Given the description of an element on the screen output the (x, y) to click on. 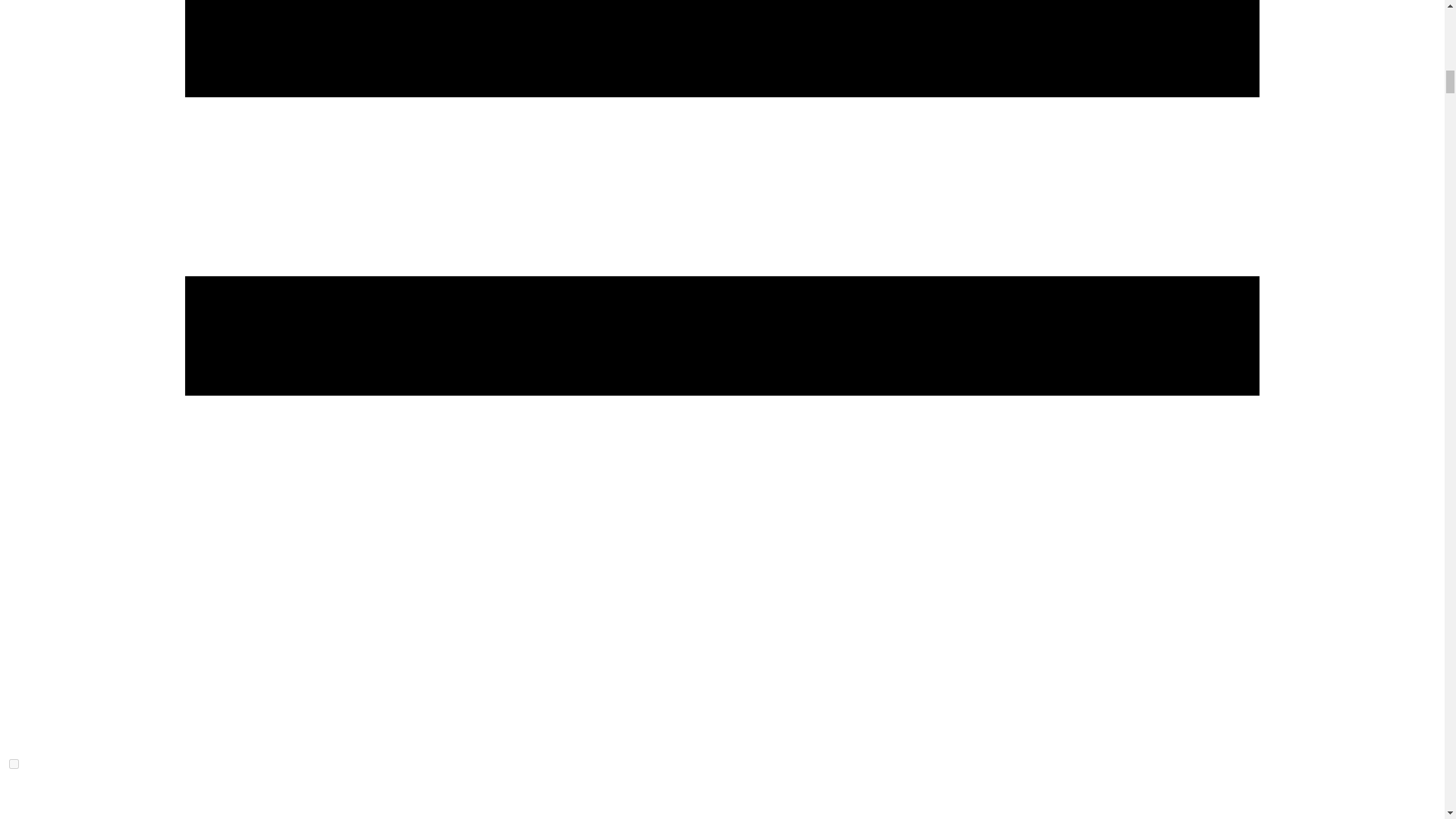
on (13, 764)
